Given the description of an element on the screen output the (x, y) to click on. 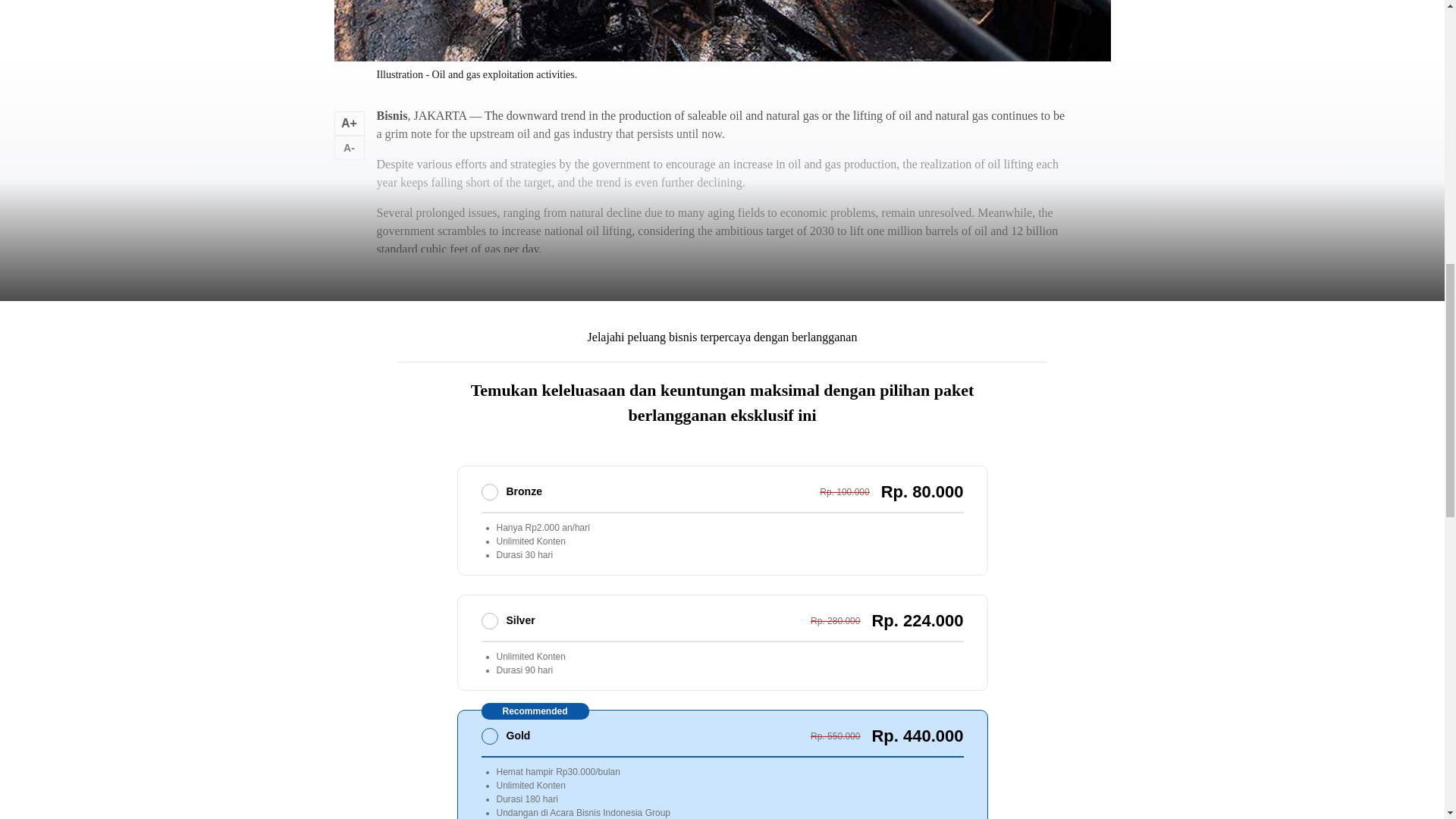
Google News (587, 345)
WA Channel (684, 345)
